Given the description of an element on the screen output the (x, y) to click on. 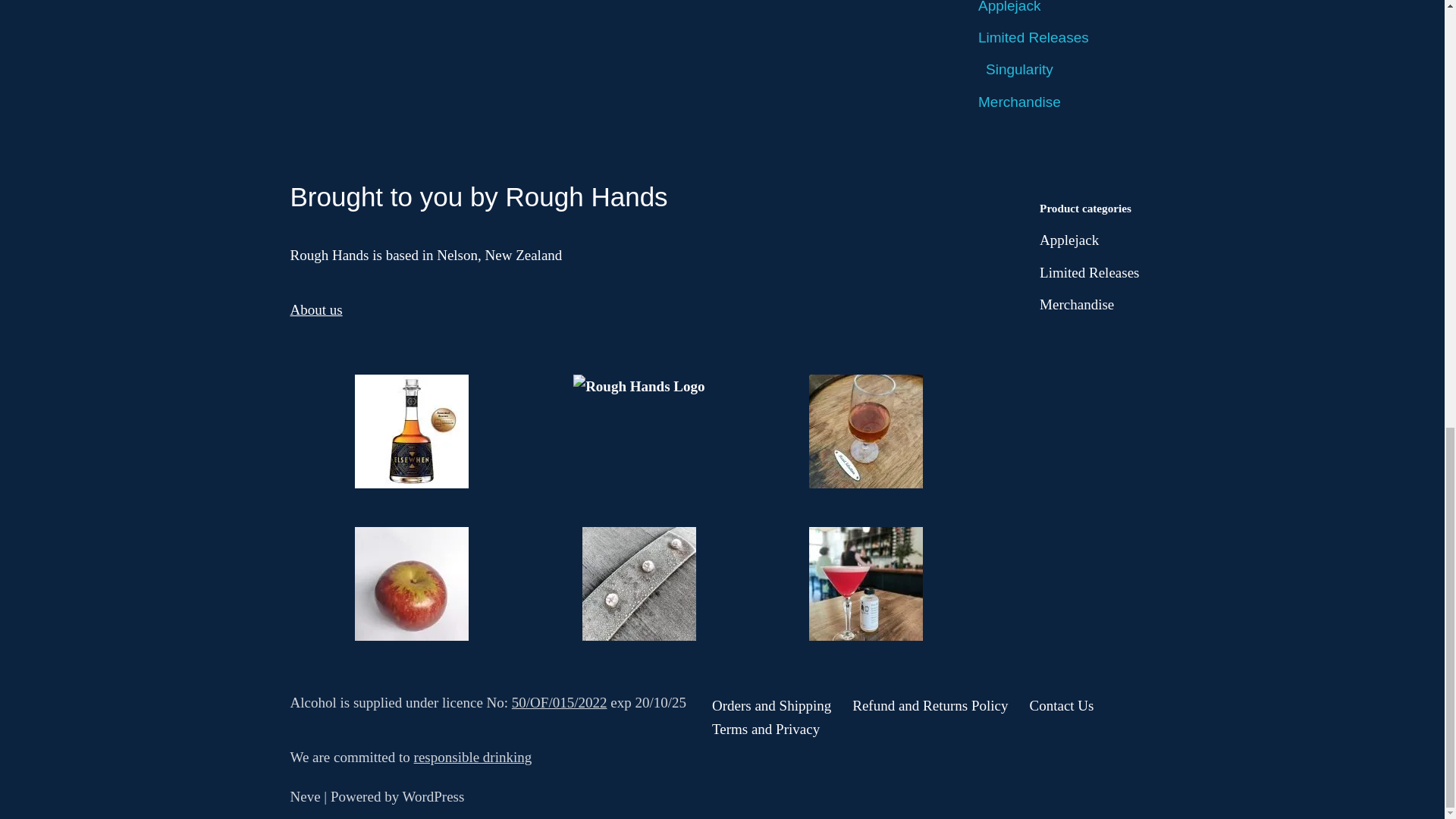
Applejack (1009, 6)
Limited Releases (1088, 272)
Merchandise (1019, 101)
Singularity (1018, 68)
Applejack (1069, 239)
Merchandise (1076, 304)
Limited Releases (1033, 37)
responsible drinking (472, 756)
About us (315, 309)
